Given the description of an element on the screen output the (x, y) to click on. 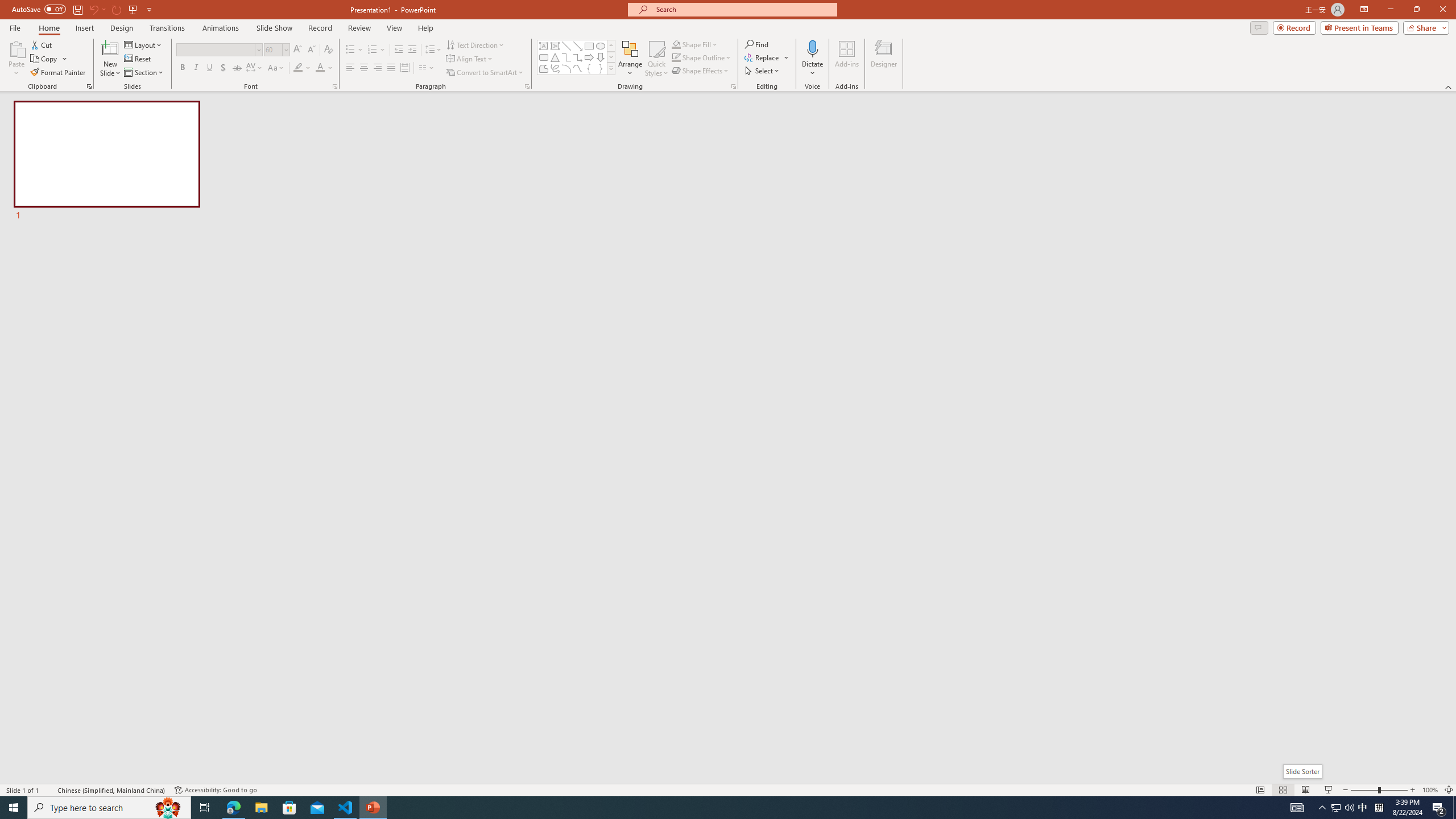
Restore Down (1416, 9)
From Beginning (133, 9)
Quick Styles (656, 58)
Font Size (276, 49)
Zoom (1379, 790)
Help (425, 28)
Find... (756, 44)
Paste (16, 48)
Redo (117, 9)
Section (144, 72)
Home (48, 28)
Bullets (349, 49)
Text Direction (476, 44)
Layout (143, 44)
Transitions (167, 28)
